Given the description of an element on the screen output the (x, y) to click on. 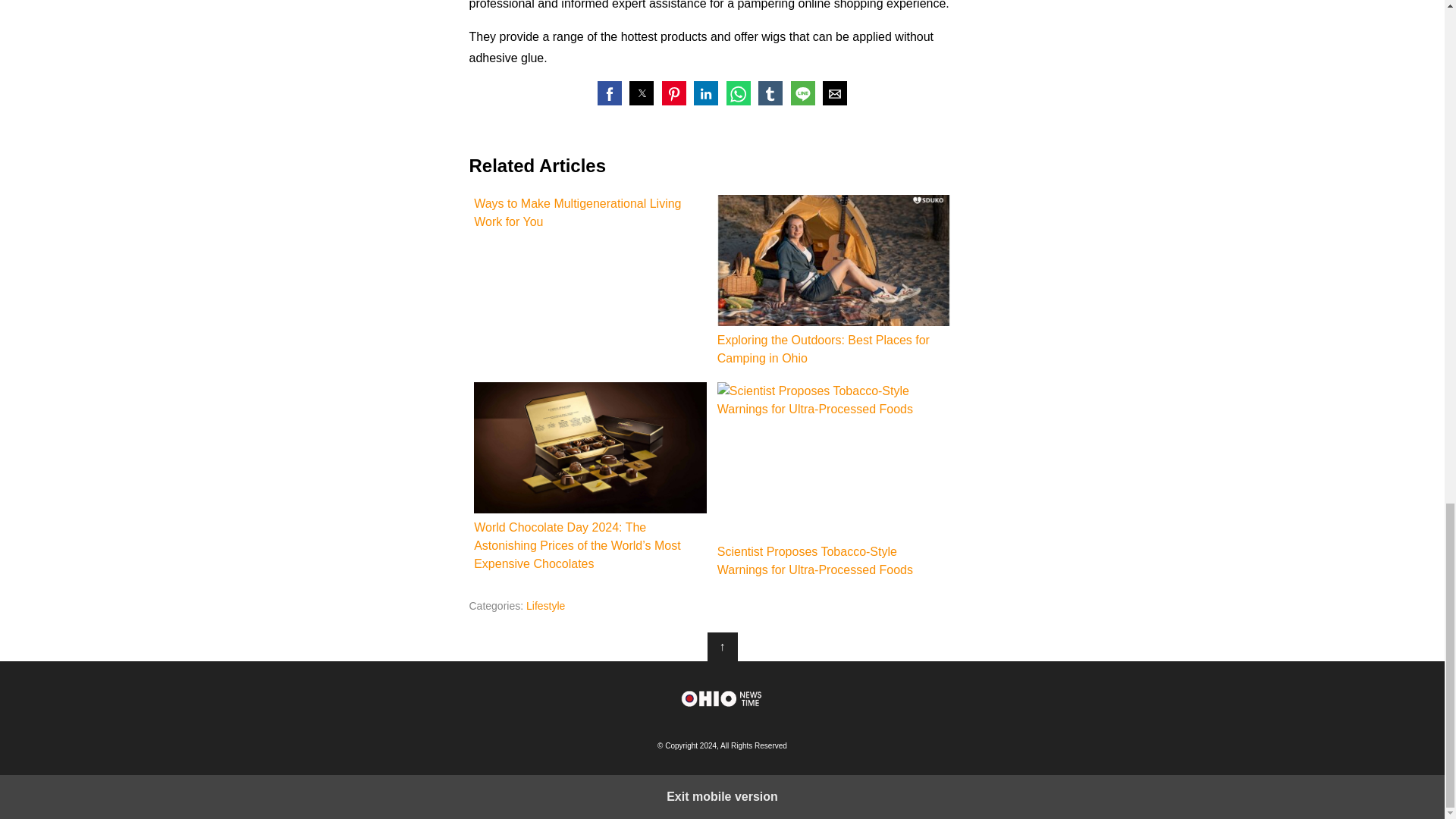
Exploring the Outdoors: Best Places for Camping in Ohio (833, 280)
Ways to Make Multigenerational Living Work for You (590, 212)
Exploring the Outdoors: Best Places for Camping in Ohio (833, 259)
Ohionewstime.com (721, 698)
Lifestyle (544, 605)
